Given the description of an element on the screen output the (x, y) to click on. 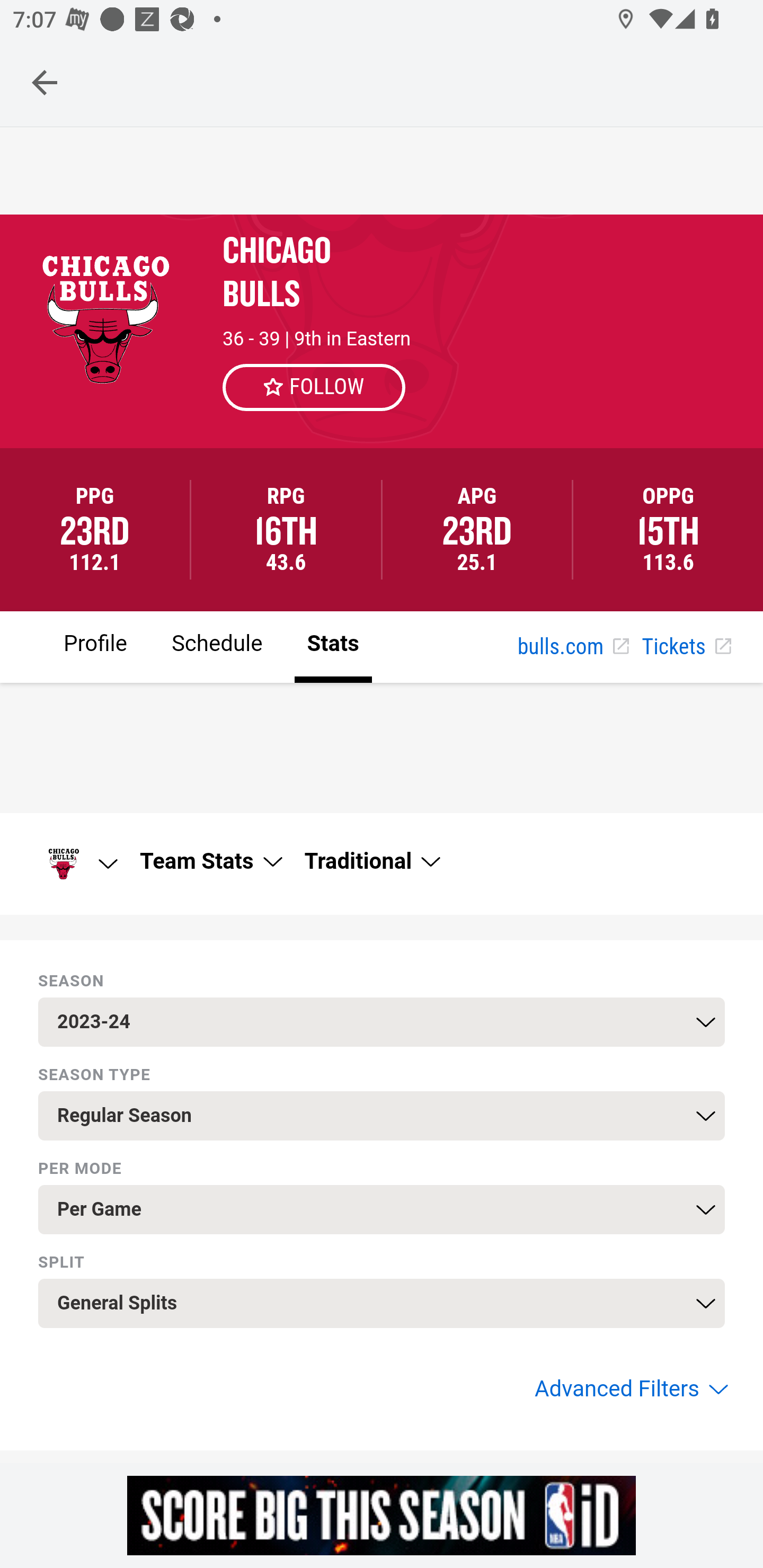
Navigate up (44, 82)
FOLLOW (314, 386)
Profile (95, 646)
Schedule (216, 646)
Stats (332, 646)
bulls.com (572, 647)
Tickets (685, 647)
Chicago Bulls Logo (76, 863)
Team Stats (209, 861)
Traditional (370, 861)
2023-24 (381, 1021)
Regular Season (381, 1115)
Per Game (381, 1209)
General Splits (381, 1302)
Advanced Filters (629, 1388)
g5nqqygr7owph (381, 1515)
